Given the description of an element on the screen output the (x, y) to click on. 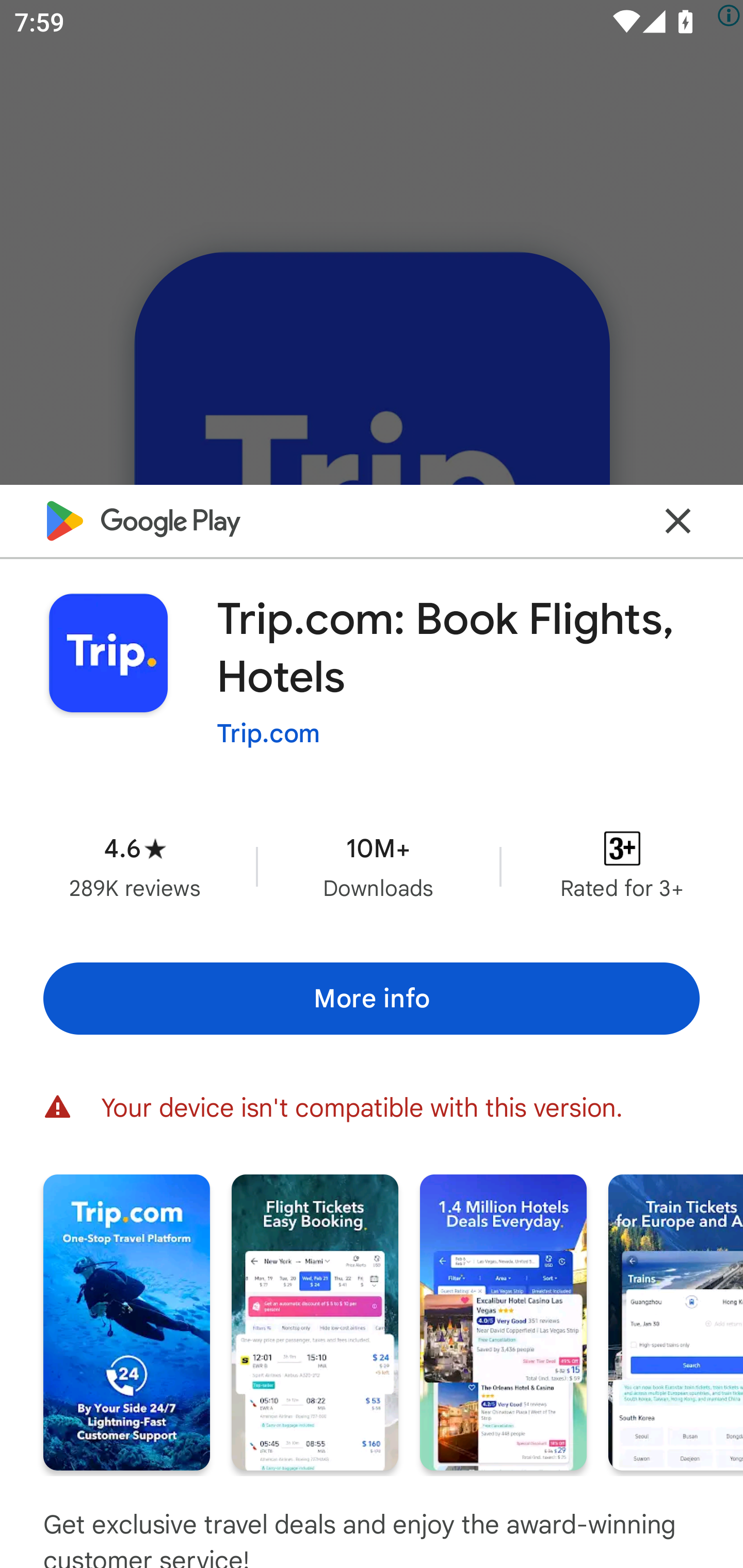
Close (677, 520)
Trip.com (268, 732)
More info (371, 998)
Screenshot "1" of "8" (126, 1322)
Screenshot "2" of "8" (314, 1322)
Screenshot "3" of "8" (502, 1322)
Screenshot "4" of "8" (675, 1322)
